Given the description of an element on the screen output the (x, y) to click on. 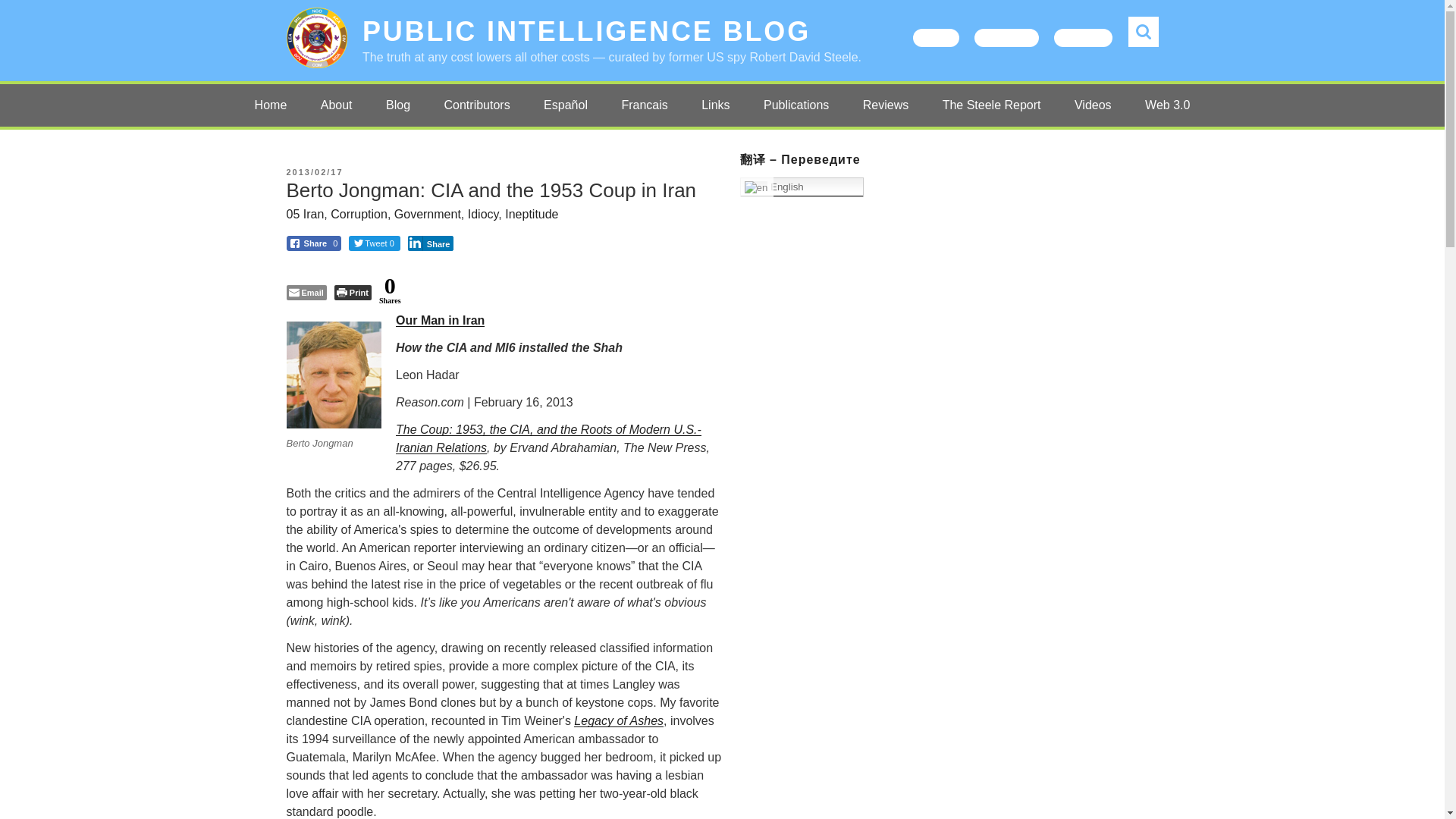
Web 3.0 (1167, 105)
Reviews (885, 105)
Twitter (935, 37)
Share (430, 242)
Share 0 (314, 242)
Videos (1092, 105)
Tweet 0 (374, 242)
PUBLIC INTELLIGENCE BLOG (586, 30)
Our Man in Iran (440, 319)
